Given the description of an element on the screen output the (x, y) to click on. 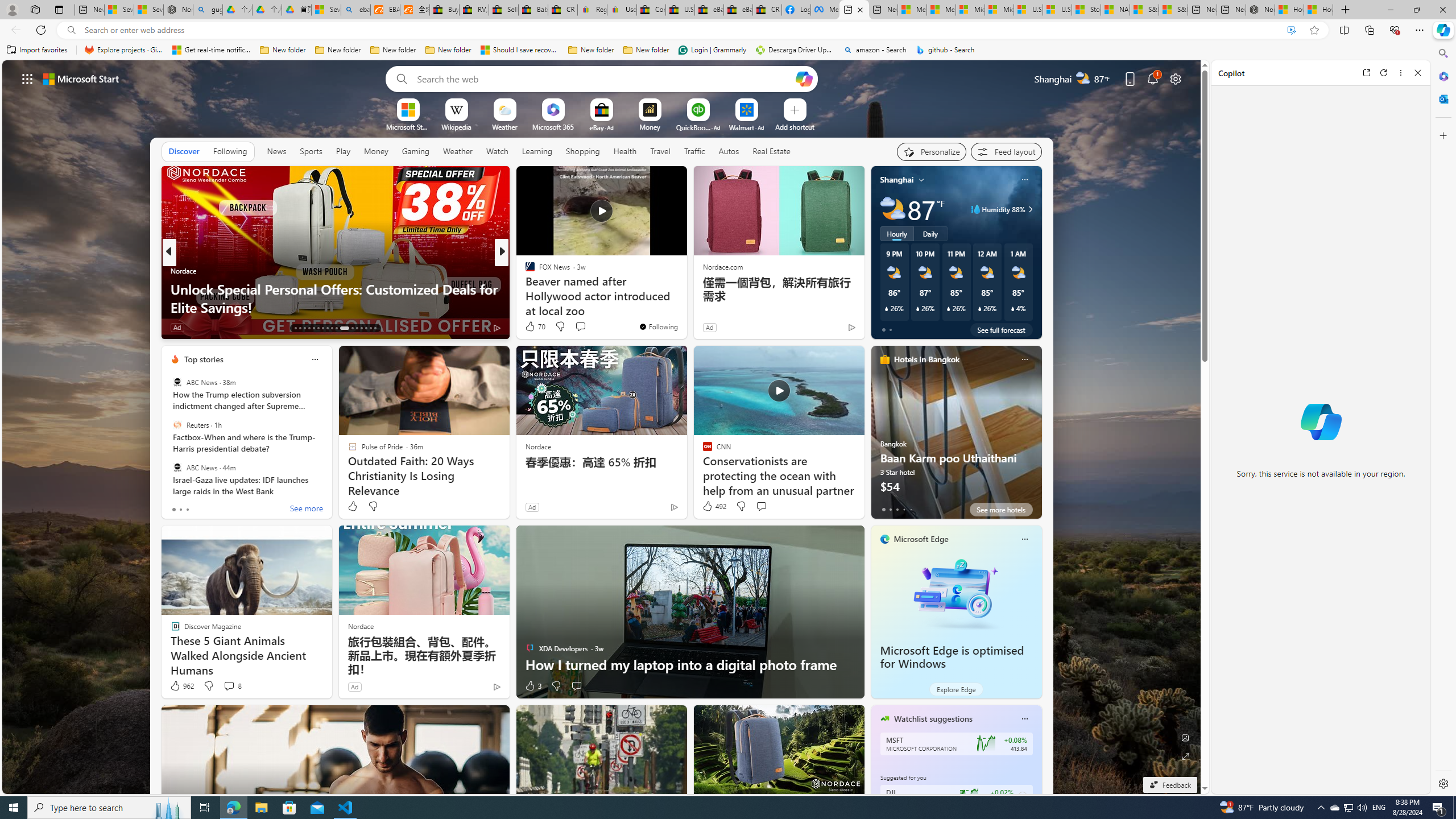
Minimize (1390, 9)
S&P 500, Nasdaq end lower, weighed by Nvidia dip | Watch (1173, 9)
Travel (660, 151)
How To Start Windows In Safe Mode (684, 307)
191 Like (532, 327)
Learning (537, 151)
3 Like (532, 685)
Reuters (176, 424)
11 Like (530, 327)
Gaming (415, 151)
New Tab (1346, 9)
Baan Karm poo Uthaithani (956, 436)
View comments 24 Comment (580, 327)
